Given the description of an element on the screen output the (x, y) to click on. 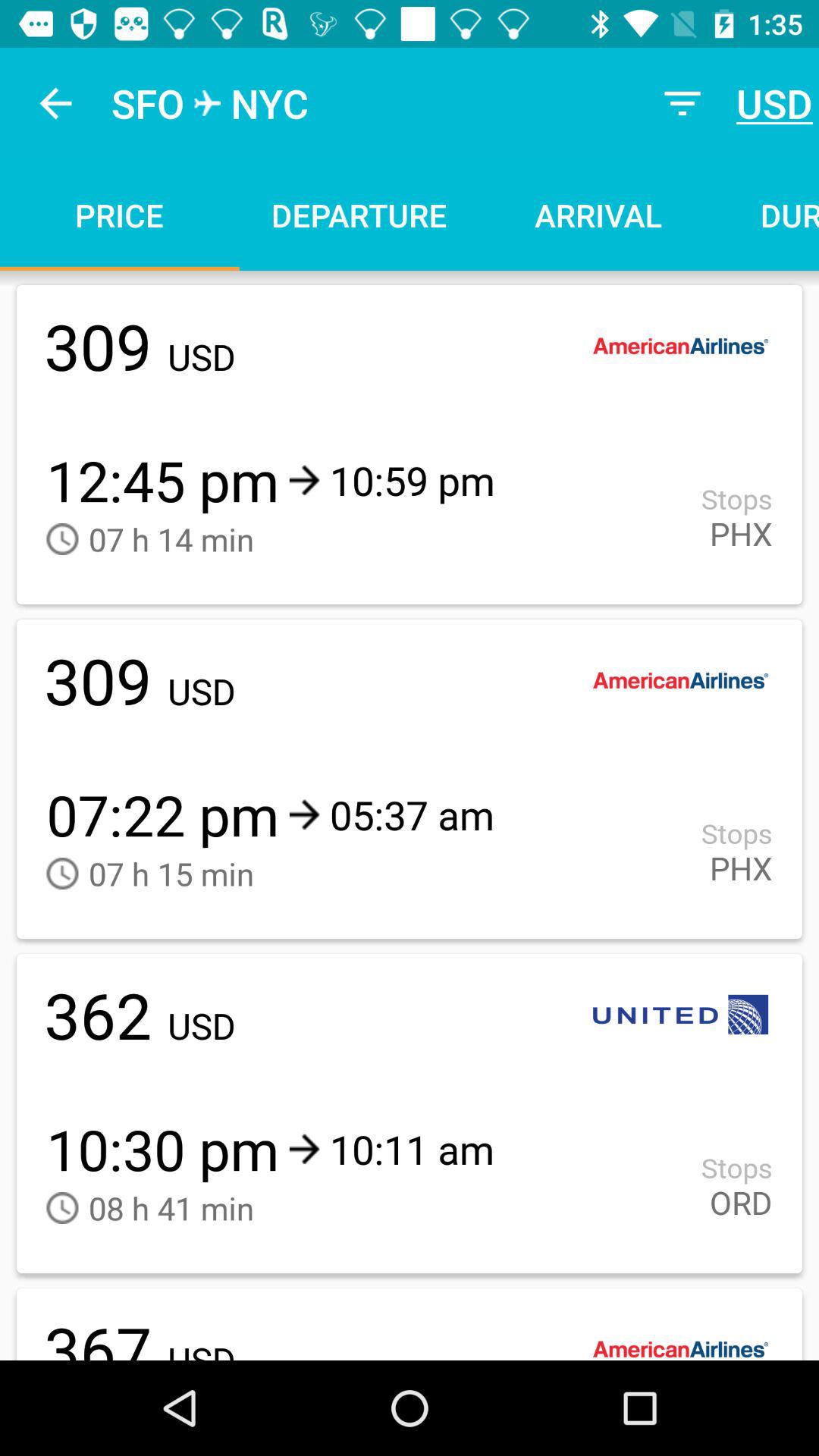
open icon above the price icon (55, 103)
